Given the description of an element on the screen output the (x, y) to click on. 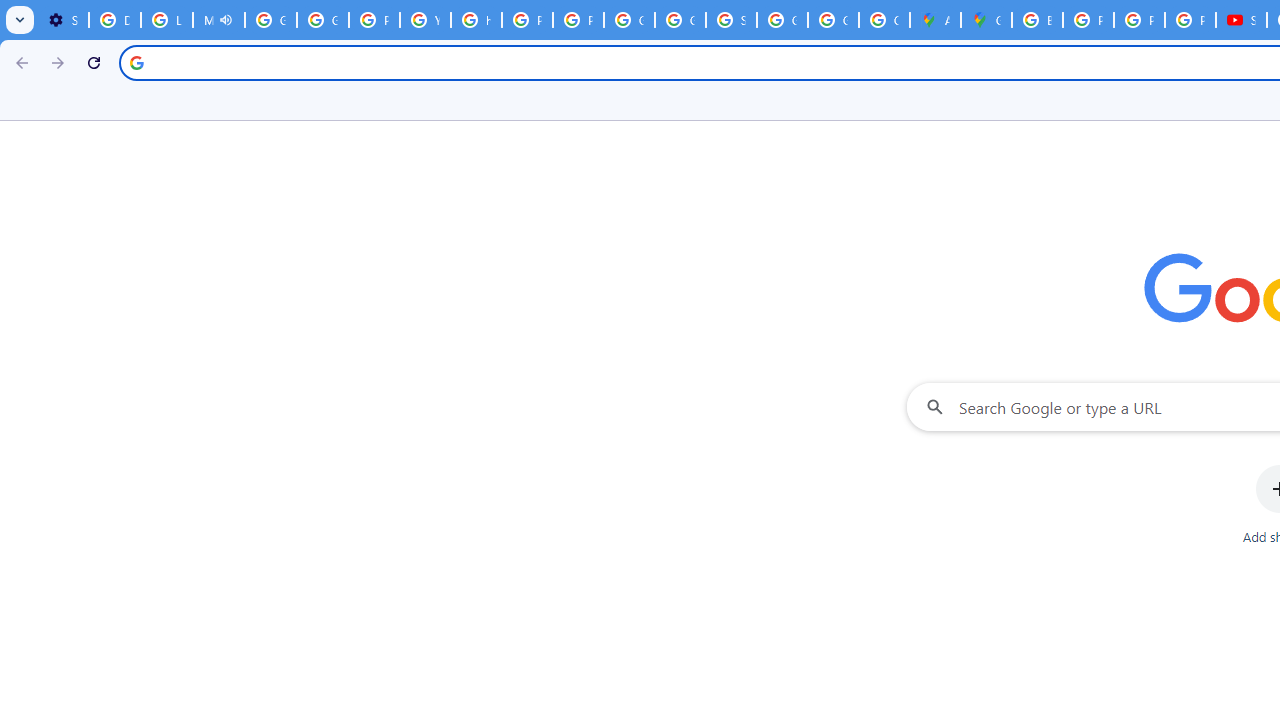
Settings - Customize profile (63, 20)
Delete photos & videos - Computer - Google Photos Help (114, 20)
Privacy Help Center - Policies Help (526, 20)
Google Maps (986, 20)
Learn how to find your photos - Google Photos Help (166, 20)
Sign in - Google Accounts (731, 20)
